Given the description of an element on the screen output the (x, y) to click on. 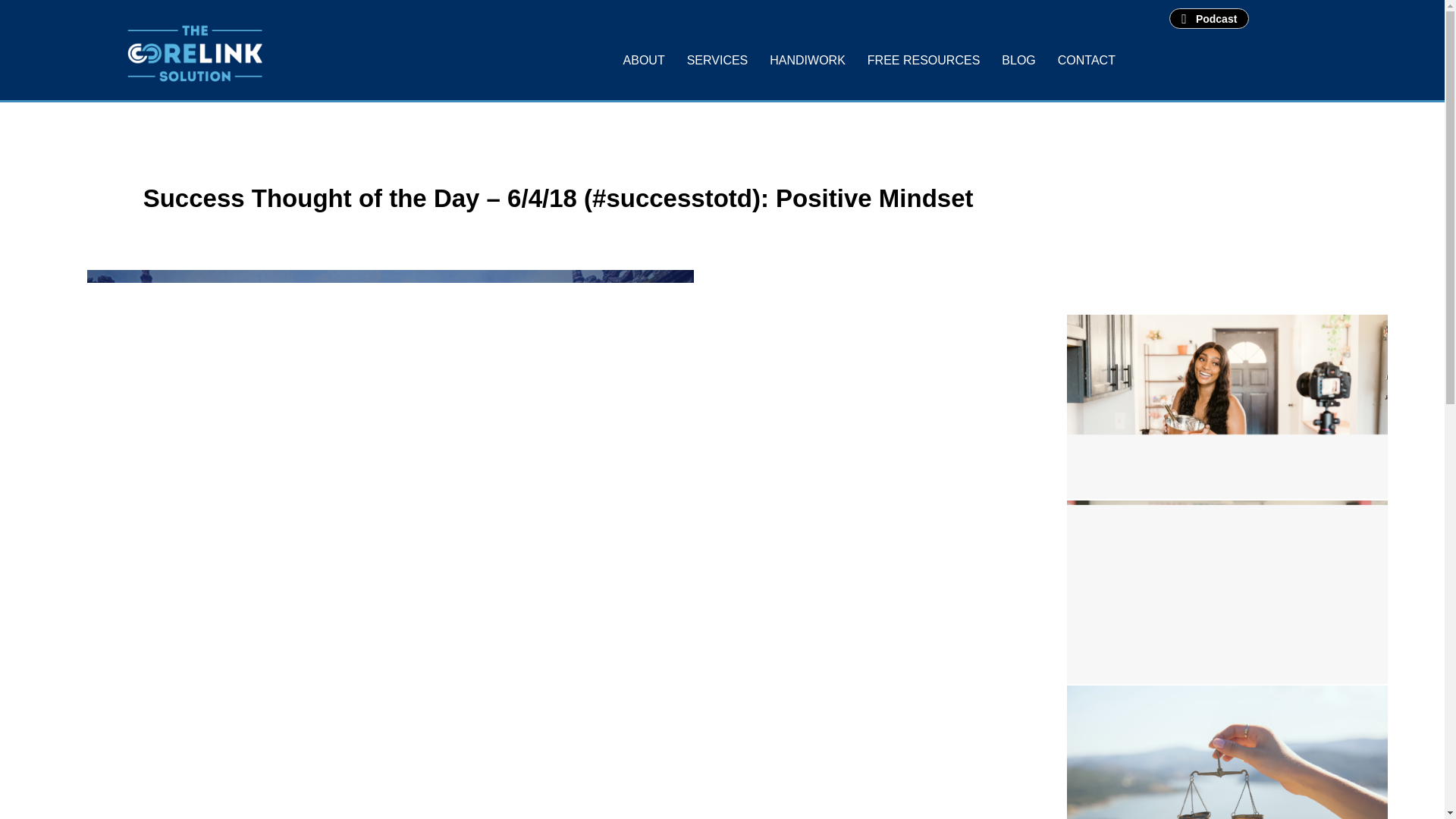
Podcast (1209, 18)
BLOG (1018, 60)
Skip to content (11, 31)
How To Master Work-Life Balance in 5 Easy Steps (1227, 752)
CONTACT (1085, 60)
HANDIWORK (807, 60)
FREE RESOURCES (923, 60)
SERVICES (717, 60)
FullLogo (195, 53)
AI in the Classroom header (1227, 584)
ABOUT (643, 60)
Side Hustle Header (1227, 398)
work life balance (1227, 752)
